Given the description of an element on the screen output the (x, y) to click on. 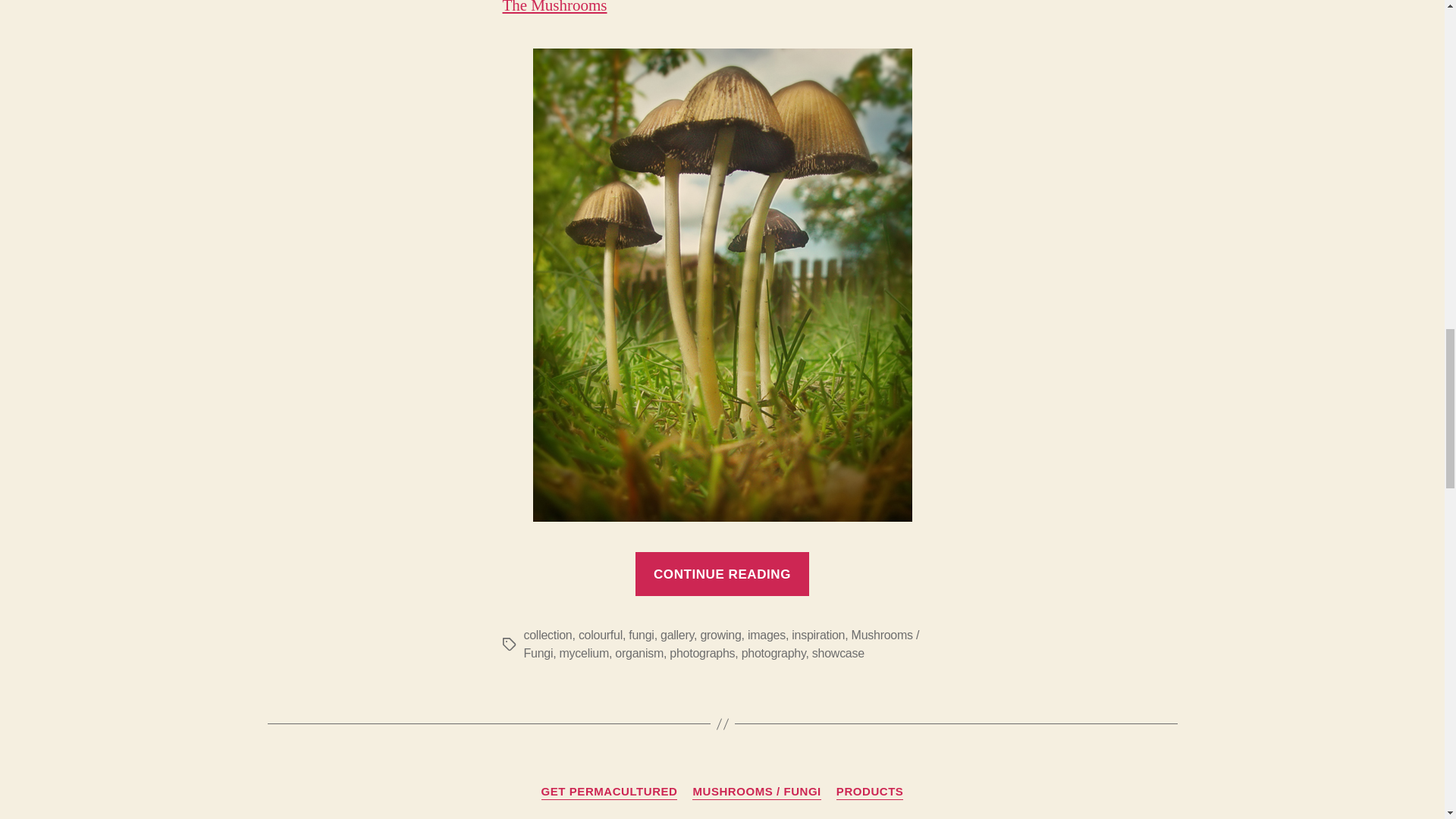
The Mushrooms (554, 7)
colourful (600, 634)
fungi (640, 634)
collection (547, 634)
flickr link (554, 7)
